Given the description of an element on the screen output the (x, y) to click on. 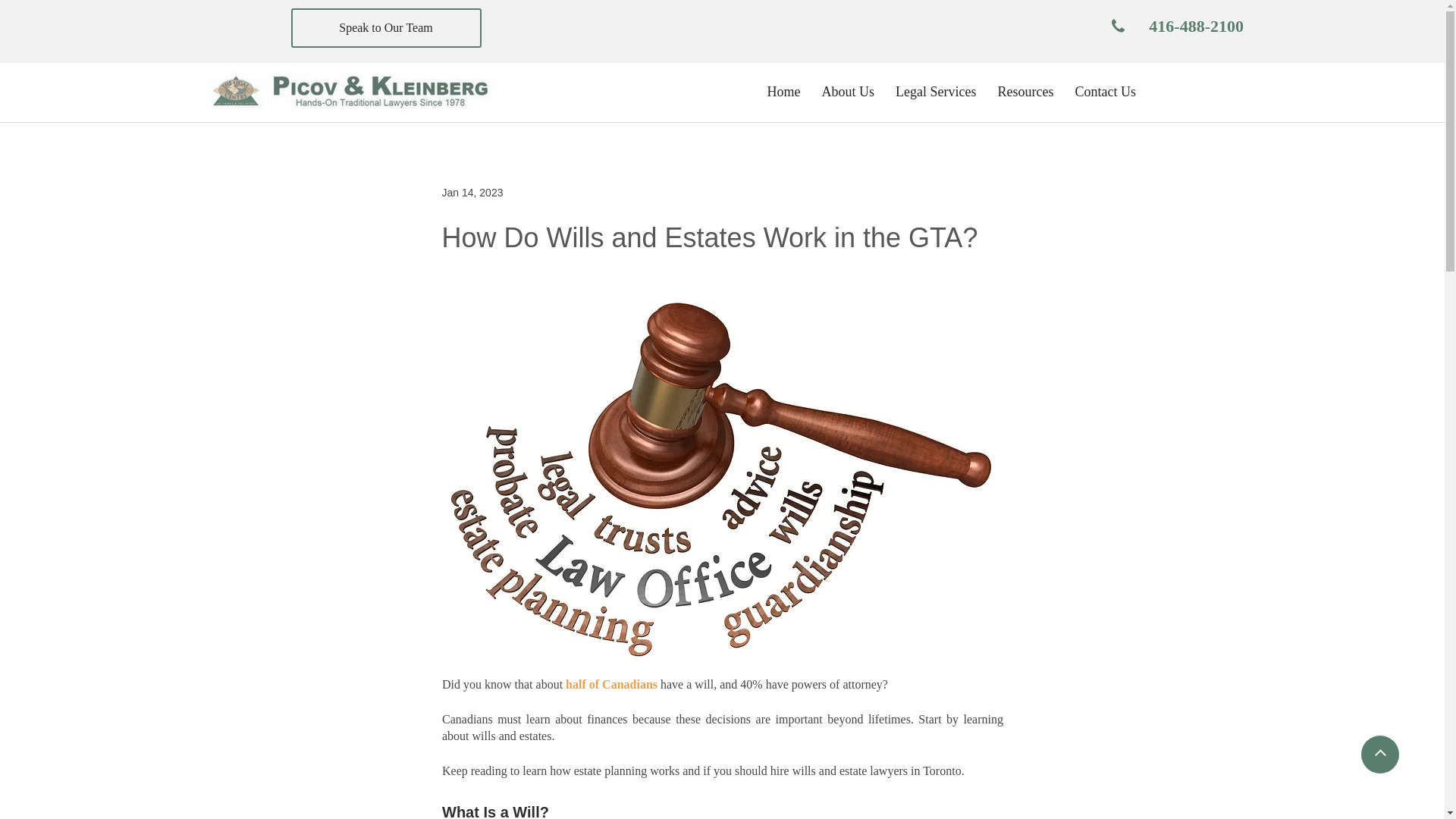
half of Canadians (612, 684)
Jan 14, 2023 (951, 91)
416-488-2100 (471, 192)
Legal Services (1195, 26)
Resources (935, 91)
Speak to Our Team (1024, 91)
About Us (386, 27)
Home (848, 91)
Contact Us (783, 91)
